Given the description of an element on the screen output the (x, y) to click on. 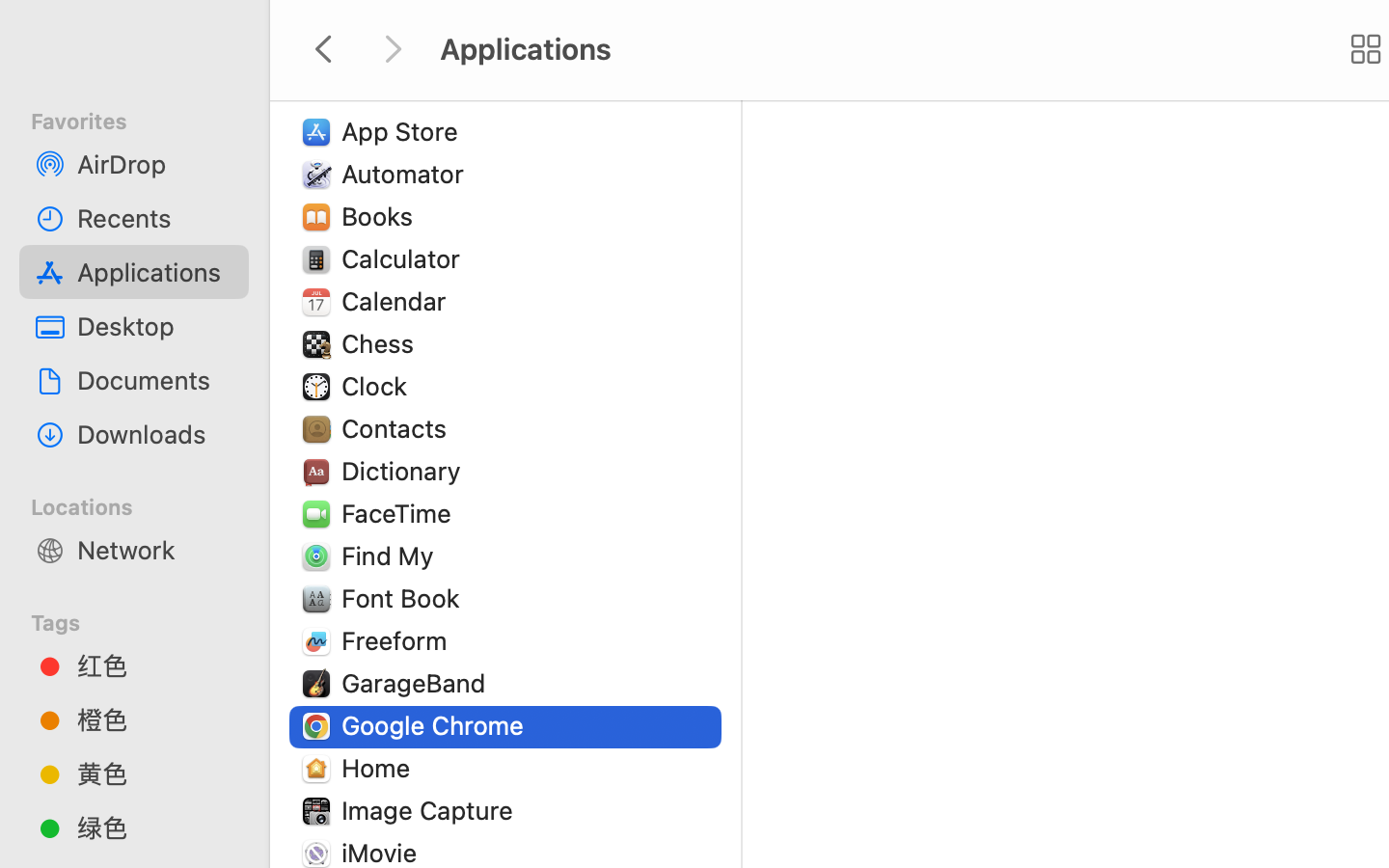
Image Capture Element type: AXTextField (430, 809)
Font Book Element type: AXTextField (404, 597)
